Given the description of an element on the screen output the (x, y) to click on. 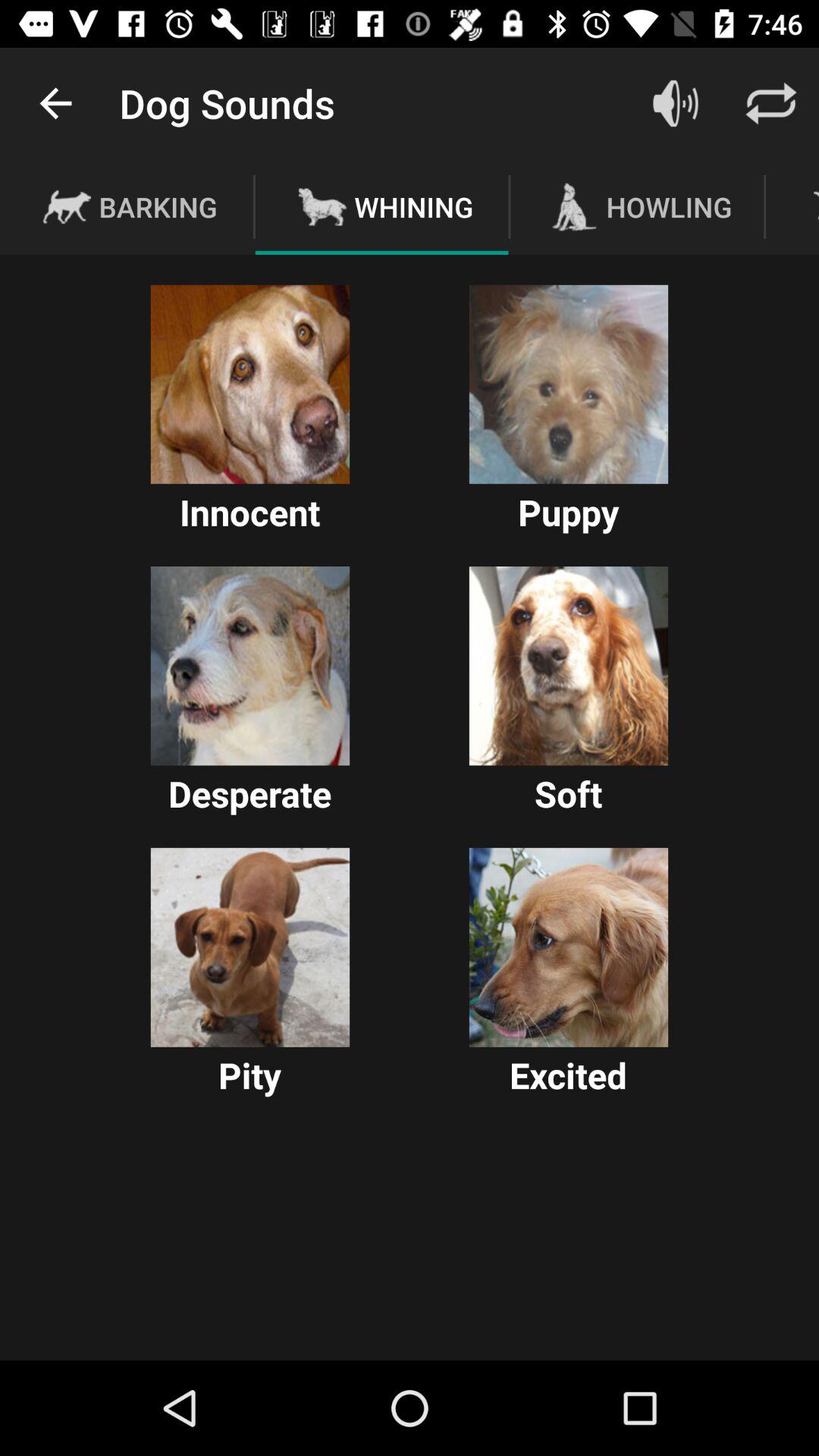
adjust volume (675, 103)
